Given the description of an element on the screen output the (x, y) to click on. 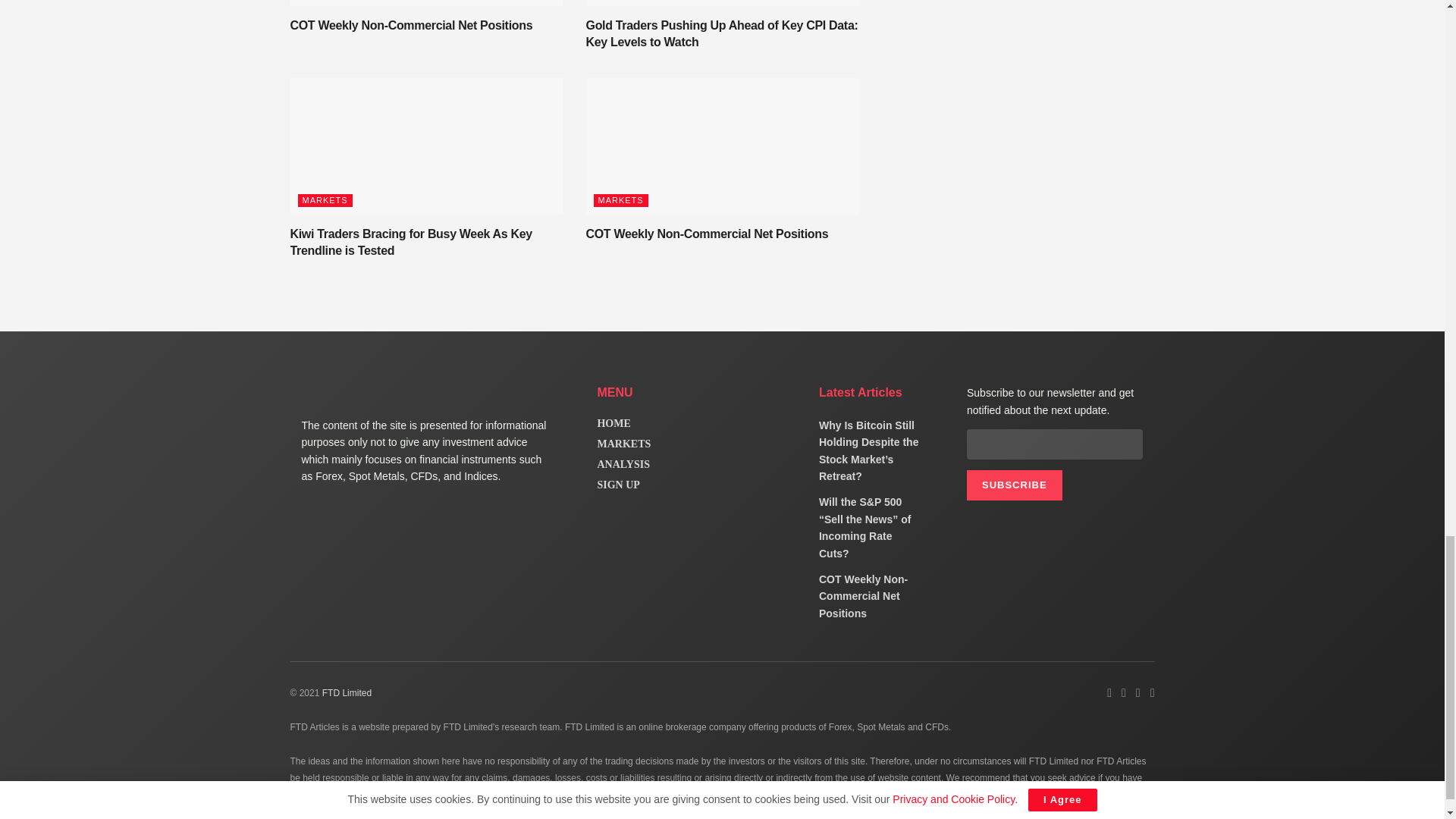
FTD Limited (346, 692)
SUBSCRIBE (1014, 485)
